Given the description of an element on the screen output the (x, y) to click on. 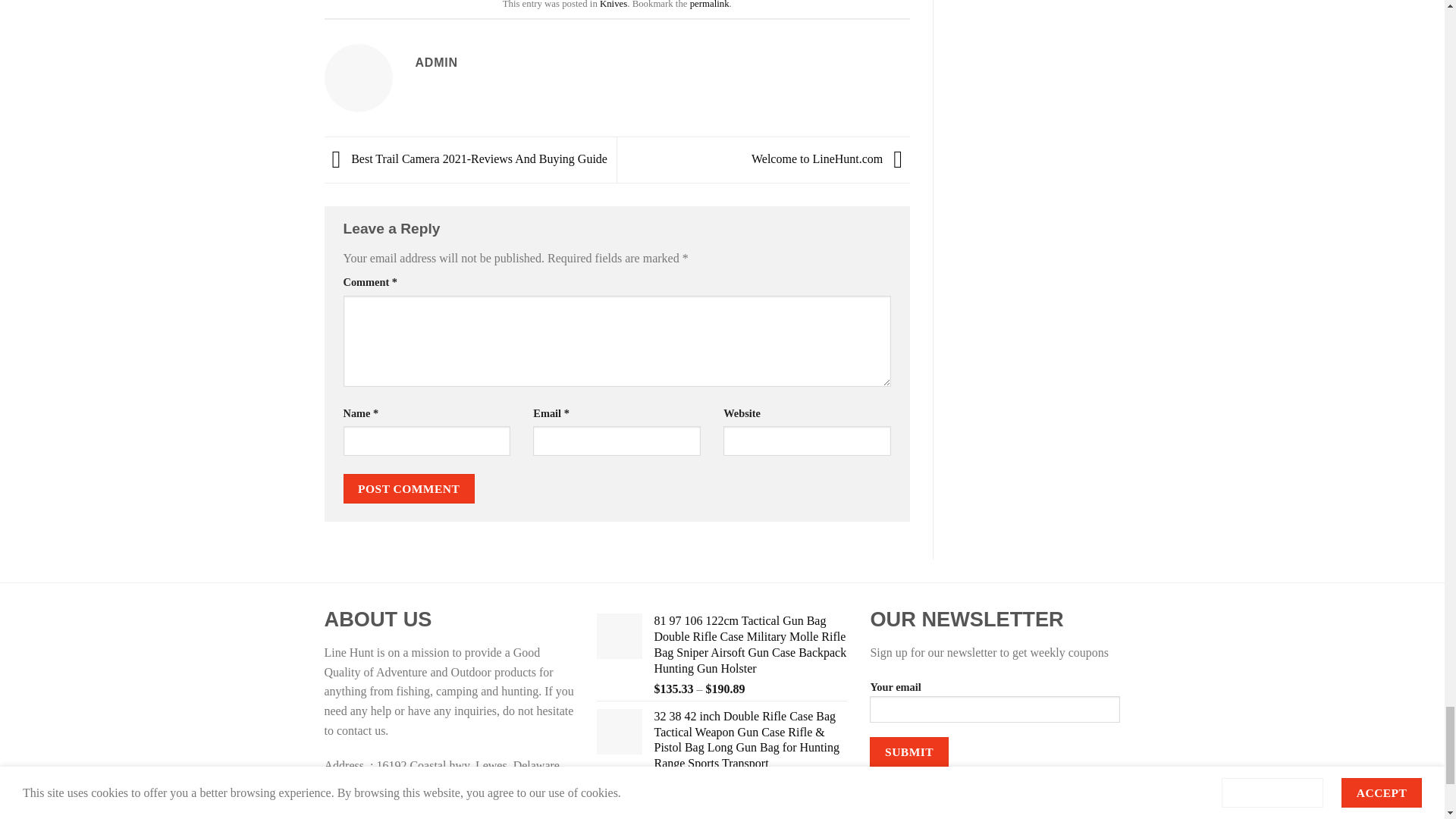
Post Comment (408, 488)
Follow on Facebook (893, 806)
Submit (908, 751)
